Given the description of an element on the screen output the (x, y) to click on. 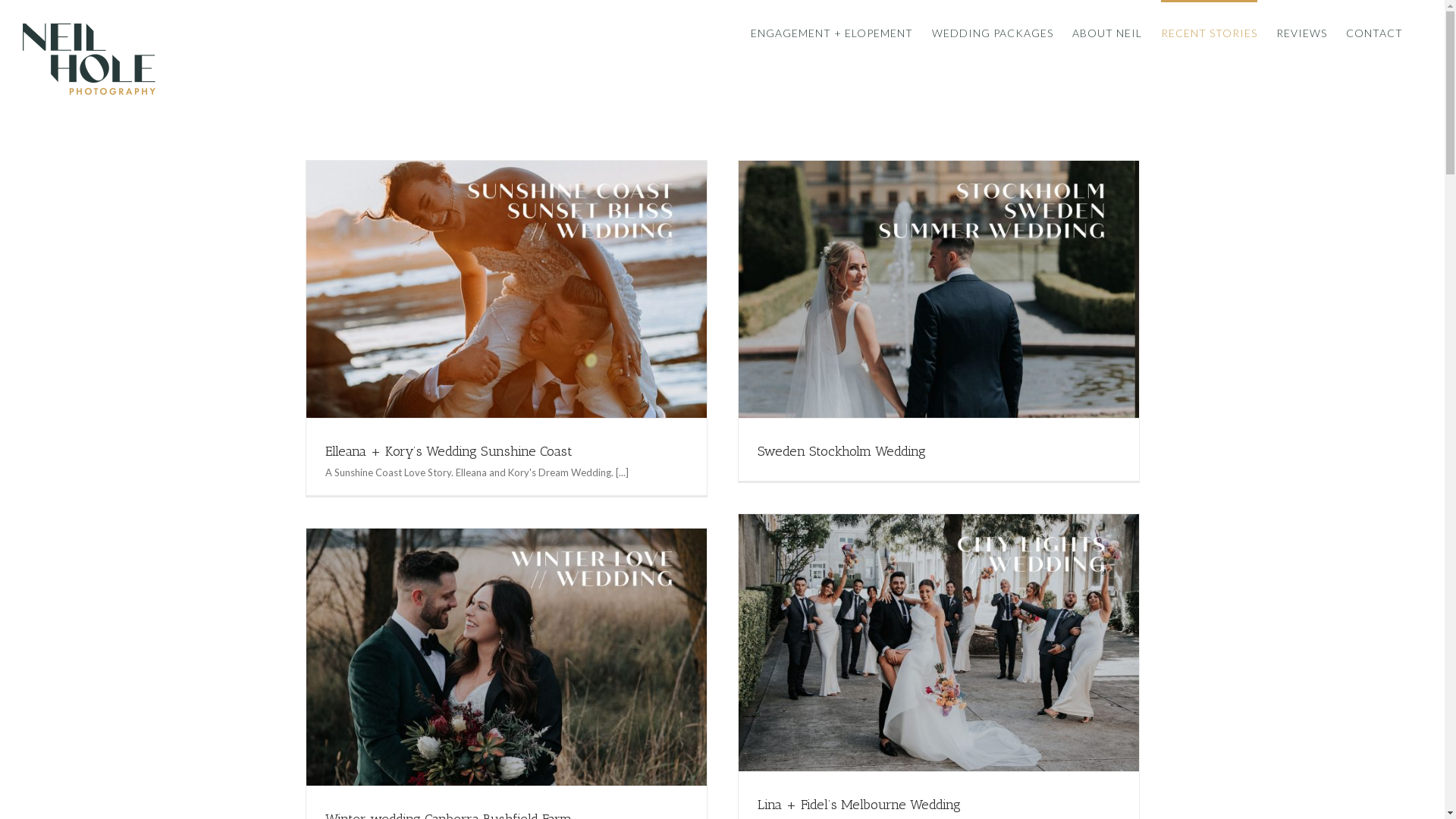
ENGAGEMENT + ELOPEMENT Element type: text (831, 31)
ABOUT NEIL Element type: text (1107, 31)
Sweden Stockholm Wedding Element type: text (840, 450)
REVIEWS Element type: text (1301, 31)
RECENT STORIES Element type: text (1209, 31)
WEDDING PACKAGES Element type: text (992, 31)
CONTACT Element type: text (1374, 31)
